Given the description of an element on the screen output the (x, y) to click on. 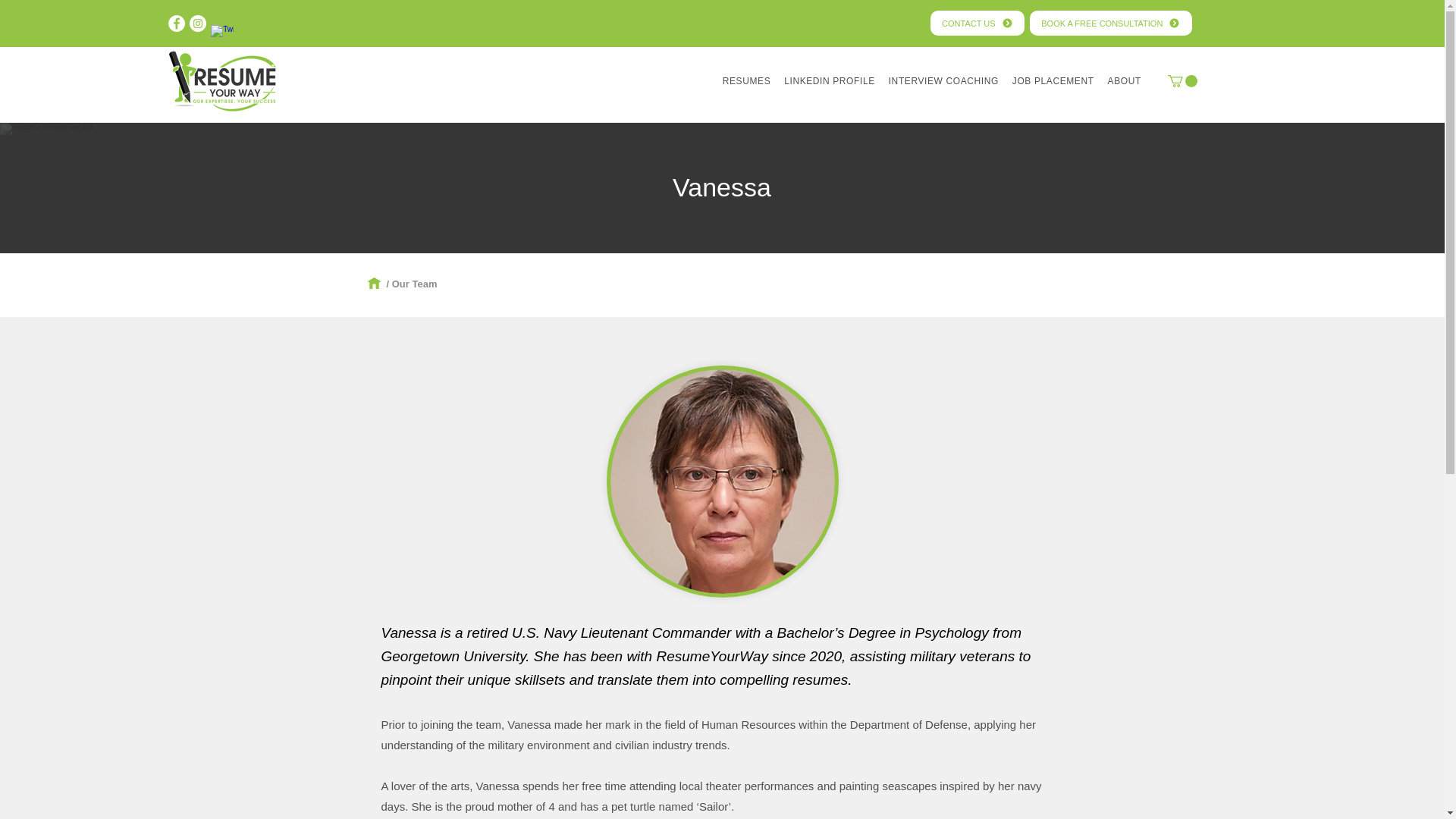
Vanessa (722, 481)
INTERVIEW COACHING (944, 81)
CONTACT US (977, 23)
JOB PLACEMENT (1053, 81)
LINKEDIN PROFILE (829, 81)
BOOK A FREE CONSULTATION (1110, 23)
Resume Your Way (222, 80)
